Given the description of an element on the screen output the (x, y) to click on. 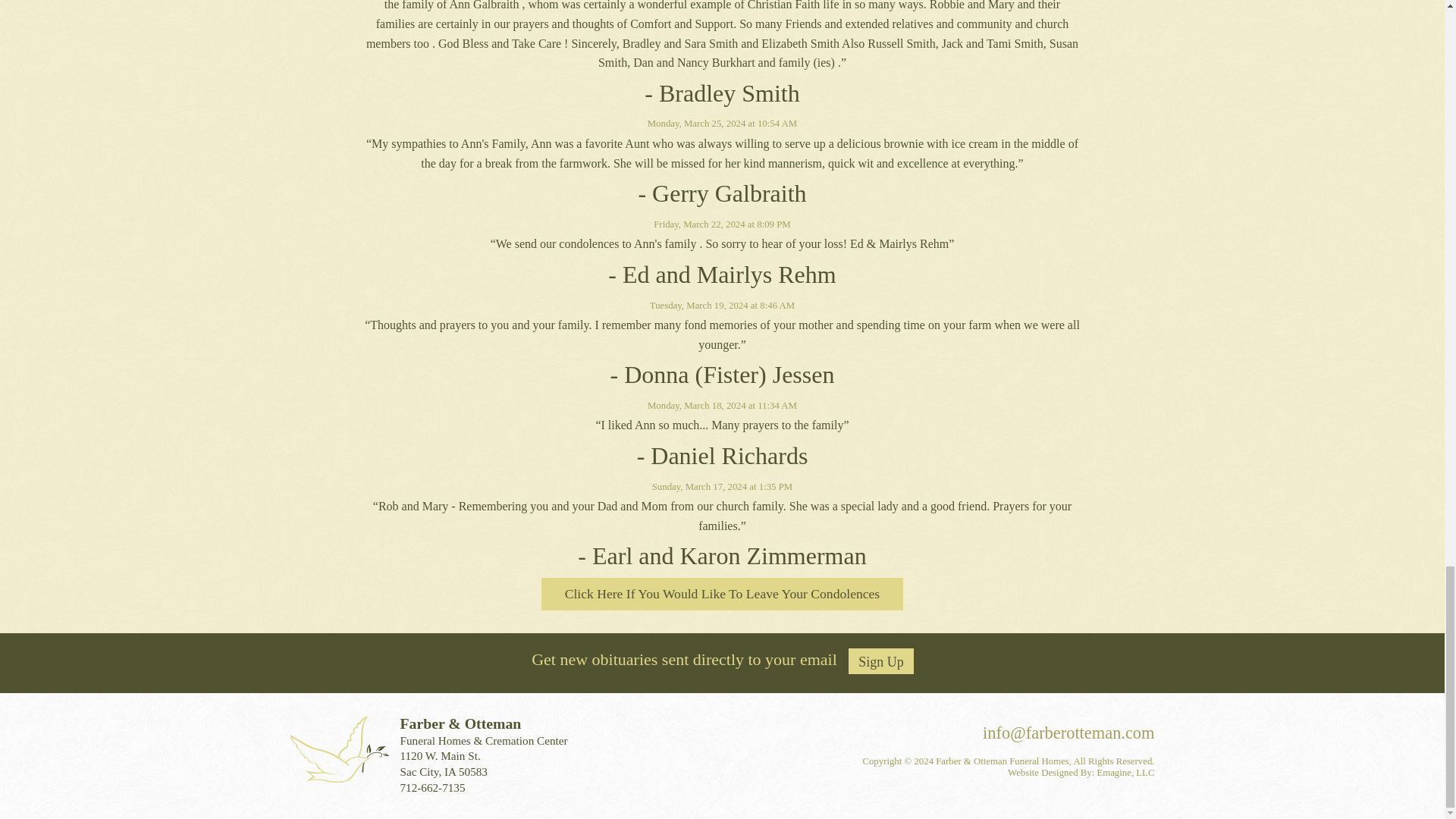
Click Here If You Would Like To Leave Your Condolences (721, 594)
Sign Up (881, 661)
Emagine, LLC (1125, 772)
